Given the description of an element on the screen output the (x, y) to click on. 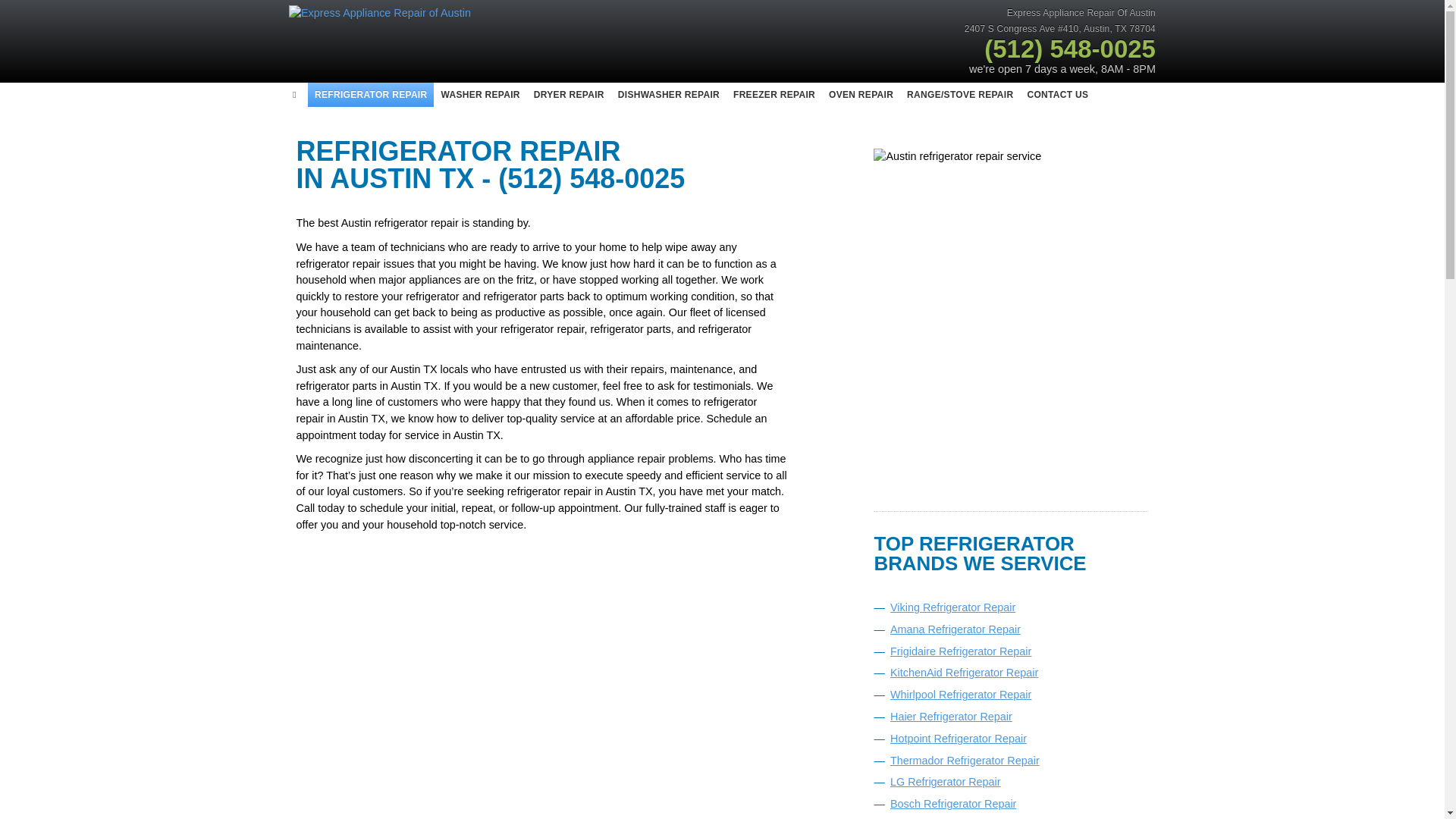
Dryer repair in Austin, TX (569, 94)
Oven repair in Austin, TX (860, 94)
LG Refrigerator Repair (945, 781)
Hotpoint Refrigerator Repair (957, 738)
Refrigerator repair in Austin, TX (370, 94)
WASHER REPAIR (479, 94)
Contact Us in Austin, TX (1057, 94)
Amana Refrigerator Repair (954, 629)
Express Appliance Repair of Austin (459, 28)
Haier Refrigerator Repair (950, 716)
Whirlpool (959, 694)
Freezer repair in Austin, TX (774, 94)
KitchenAid Refrigerator Repair (963, 672)
DRYER REPAIR (569, 94)
Dishwasher repair in Austin, TX (668, 94)
